Given the description of an element on the screen output the (x, y) to click on. 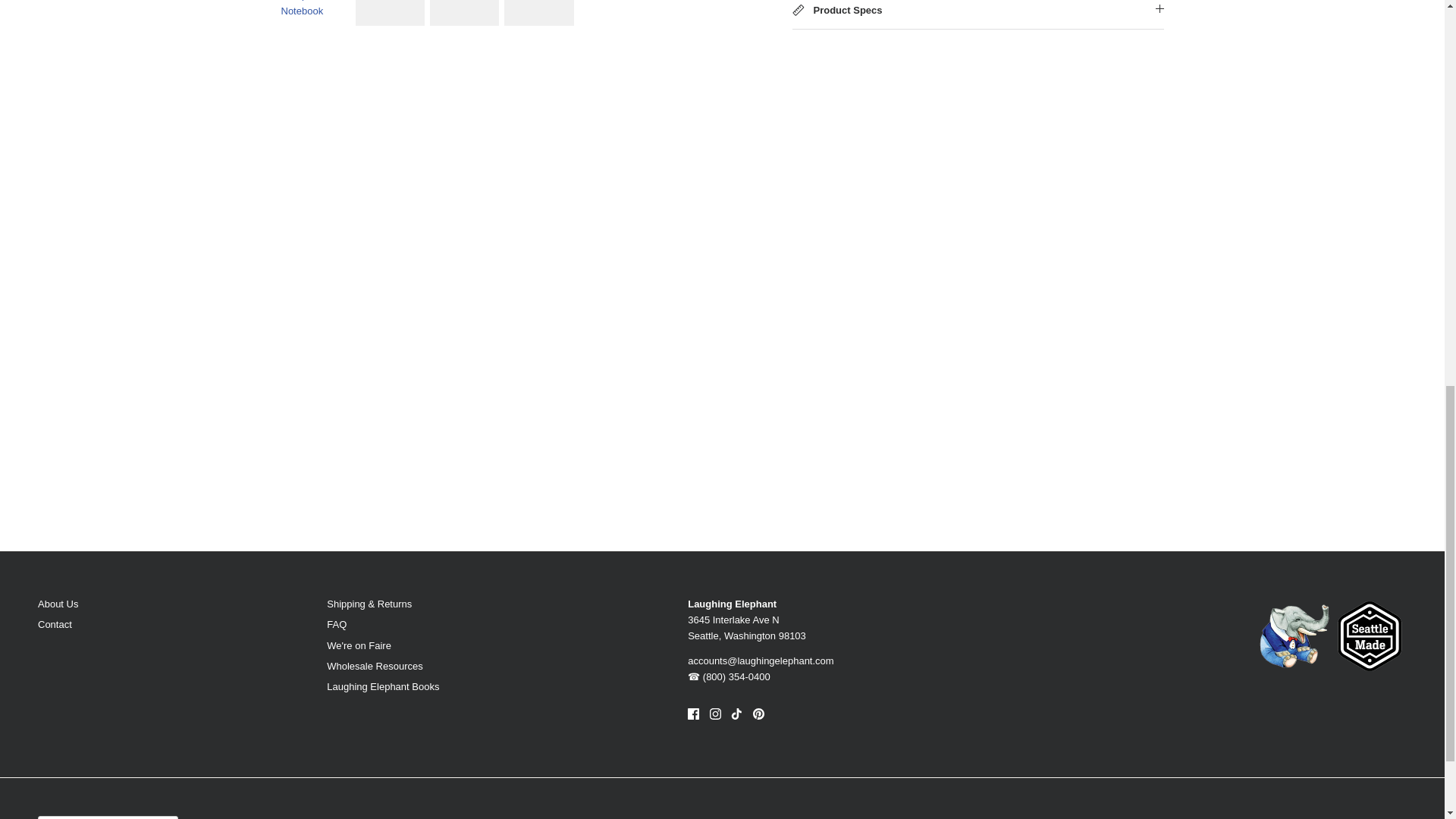
Pinterest (758, 713)
Facebook (692, 713)
Instagram (715, 713)
